Given the description of an element on the screen output the (x, y) to click on. 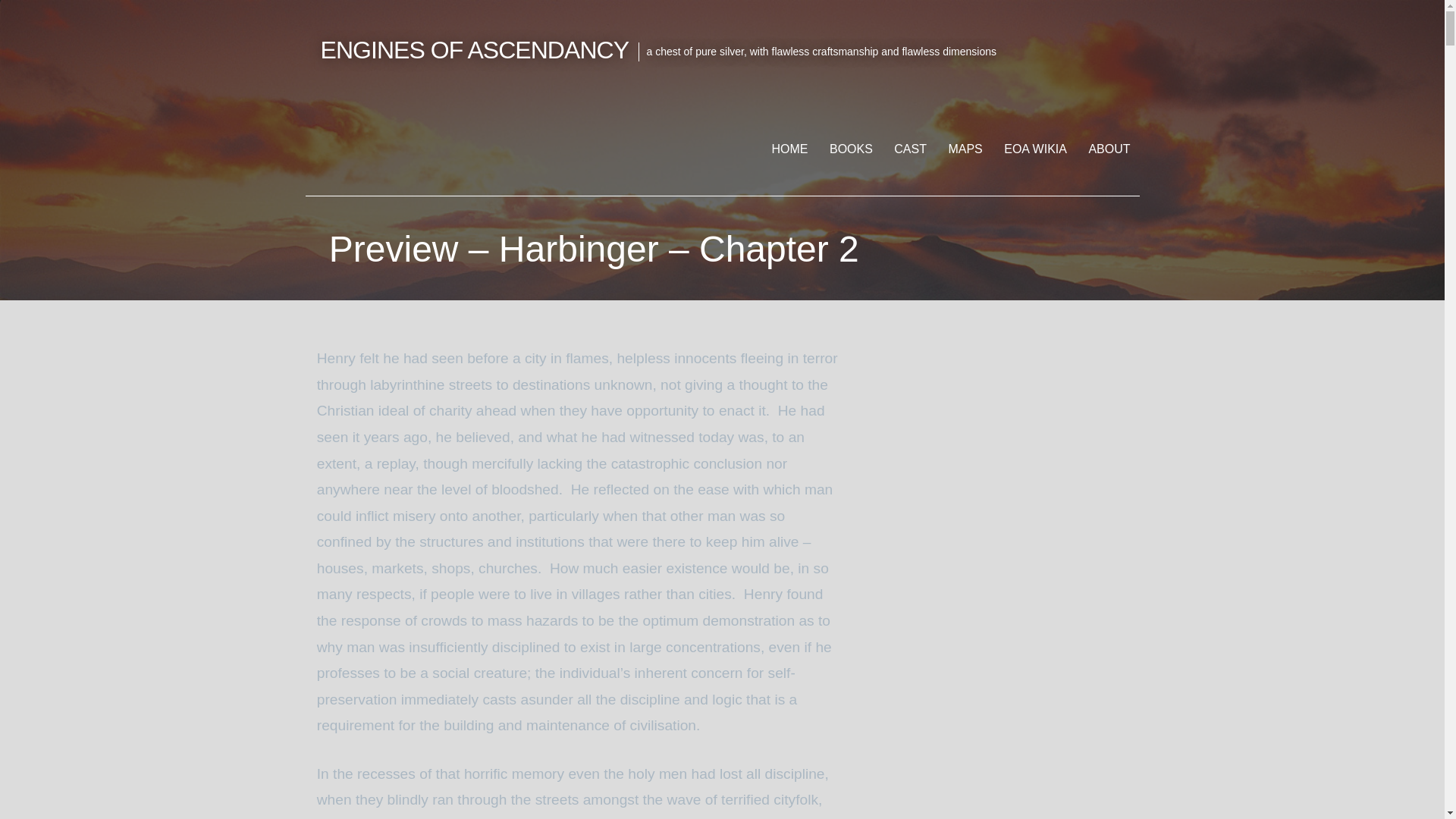
ABOUT (1108, 148)
BOOKS (851, 148)
CAST (910, 148)
ENGINES OF ASCENDANCY (474, 49)
MAPS (965, 148)
HOME (789, 148)
EOA WIKIA (1034, 148)
